Given the description of an element on the screen output the (x, y) to click on. 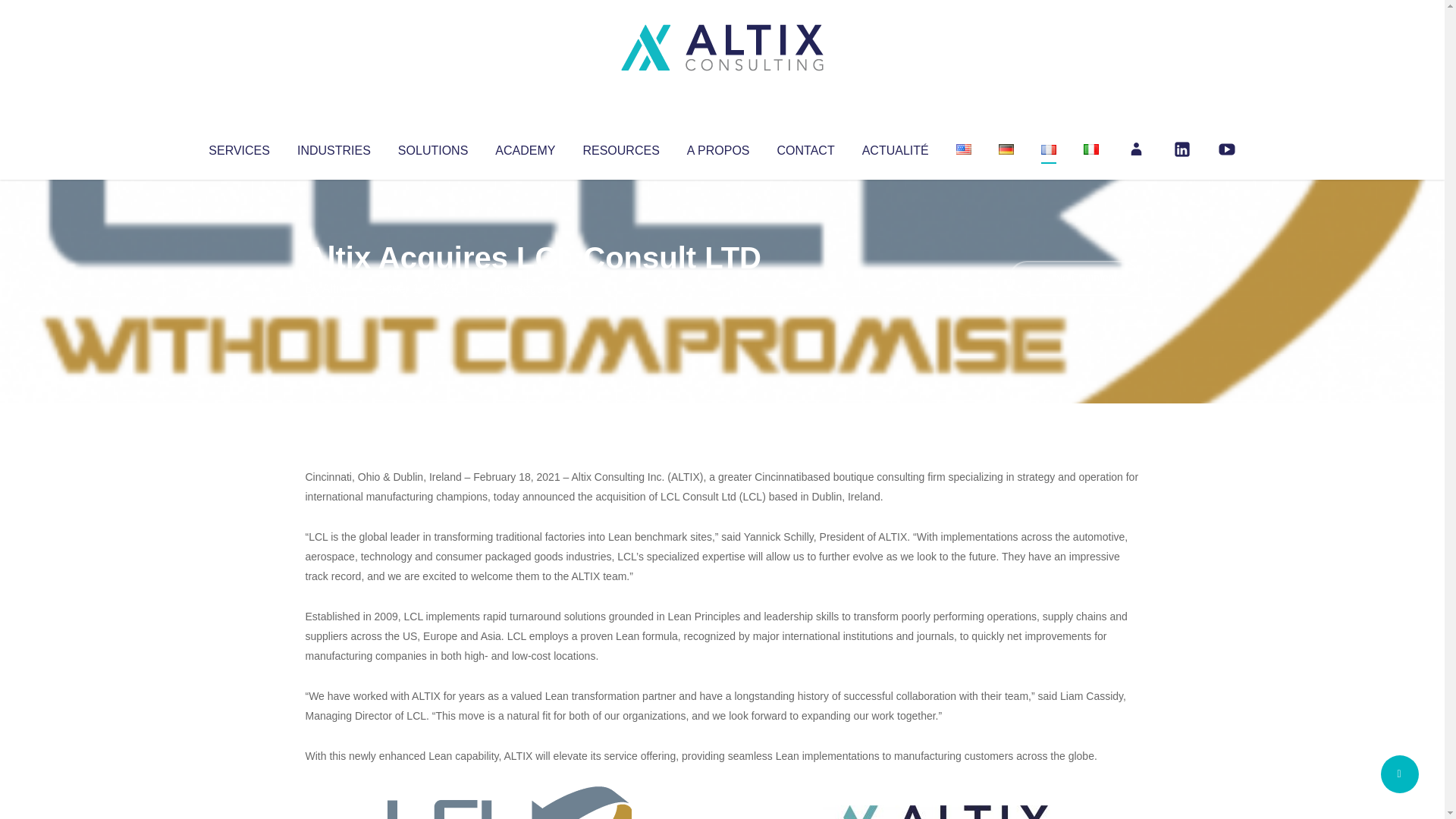
ACADEMY (524, 146)
SERVICES (238, 146)
A PROPOS (718, 146)
Articles par Altix (333, 287)
Uncategorized (530, 287)
RESOURCES (620, 146)
Altix (333, 287)
No Comments (1073, 278)
INDUSTRIES (334, 146)
SOLUTIONS (432, 146)
